Given the description of an element on the screen output the (x, y) to click on. 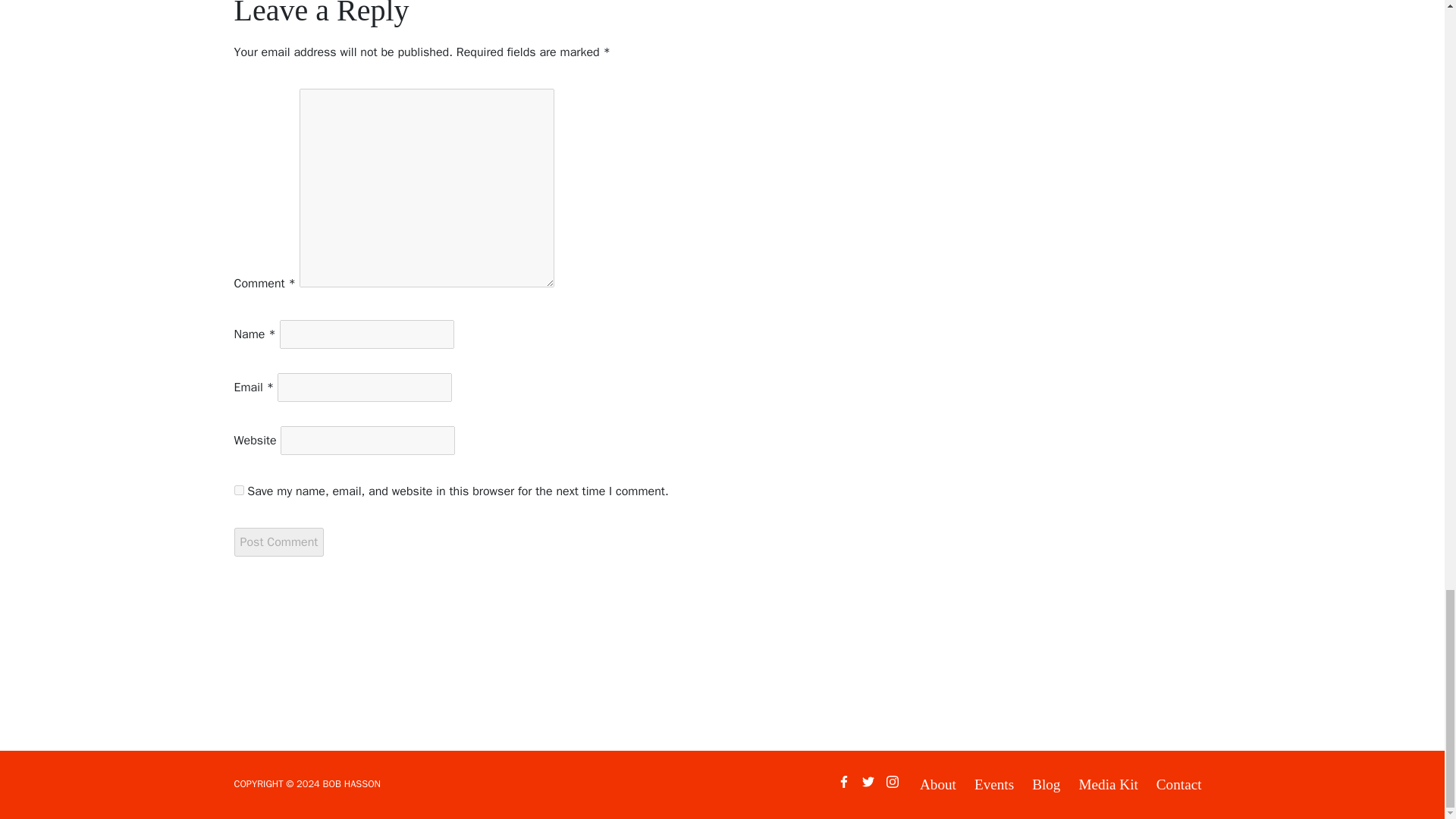
Events (993, 784)
Contact (1179, 784)
yes (237, 490)
Post Comment (277, 541)
Post Comment (277, 541)
About (938, 784)
Media Kit (1107, 784)
